Given the description of an element on the screen output the (x, y) to click on. 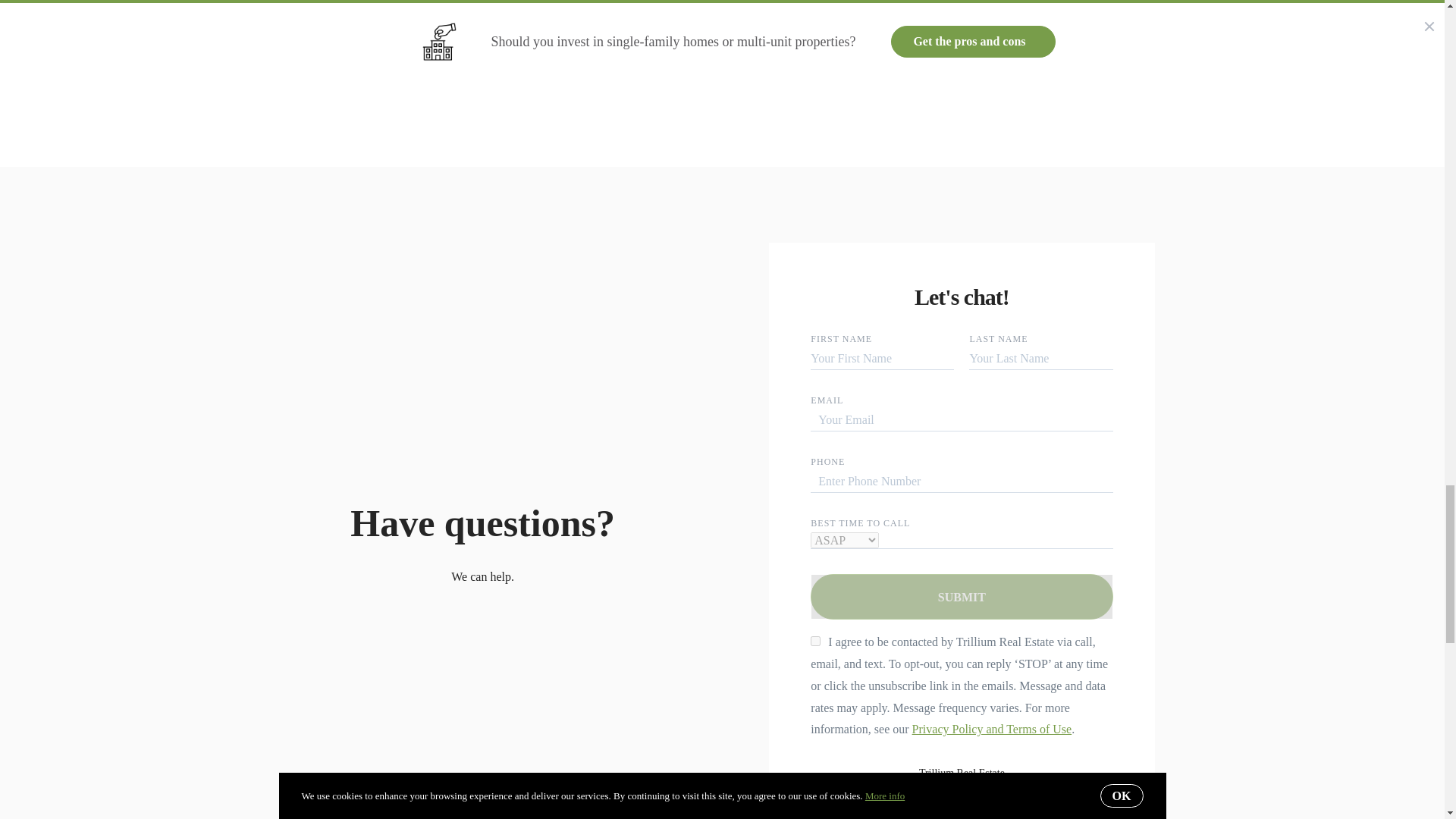
on (815, 641)
